Given the description of an element on the screen output the (x, y) to click on. 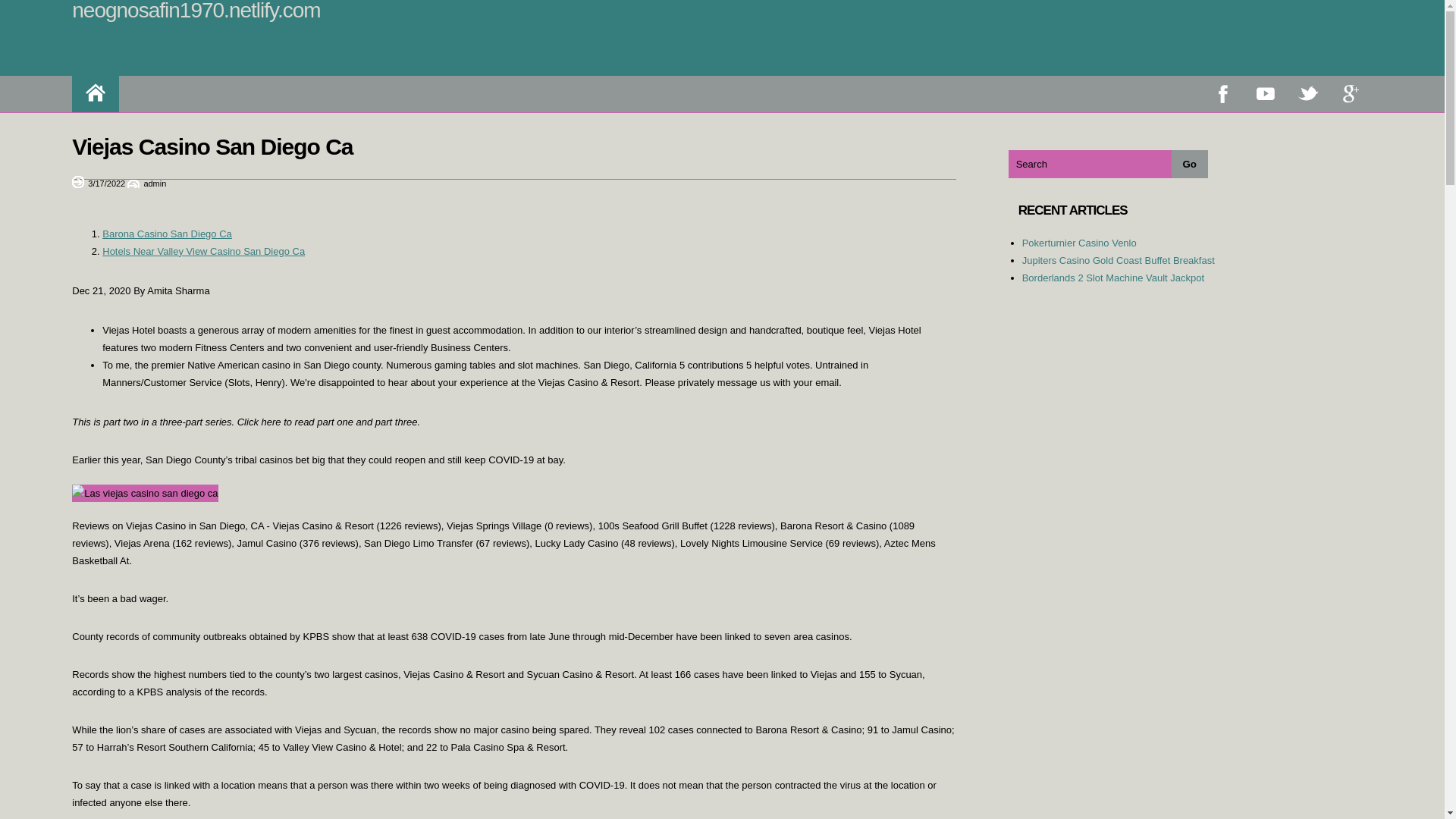
Hotels Near Valley View Casino San Diego Ca (202, 251)
Jupiters Casino Gold Coast Buffet Breakfast (1118, 260)
Go (1190, 163)
Search (1090, 163)
Borderlands 2 Slot Machine Vault Jackpot (1113, 277)
Las viejas casino san diego ca (143, 493)
neognosafin1970.netlify.com (195, 11)
Pokerturnier Casino Venlo (1079, 242)
neognosafin1970.netlify.com (195, 11)
Go (1190, 163)
